Given the description of an element on the screen output the (x, y) to click on. 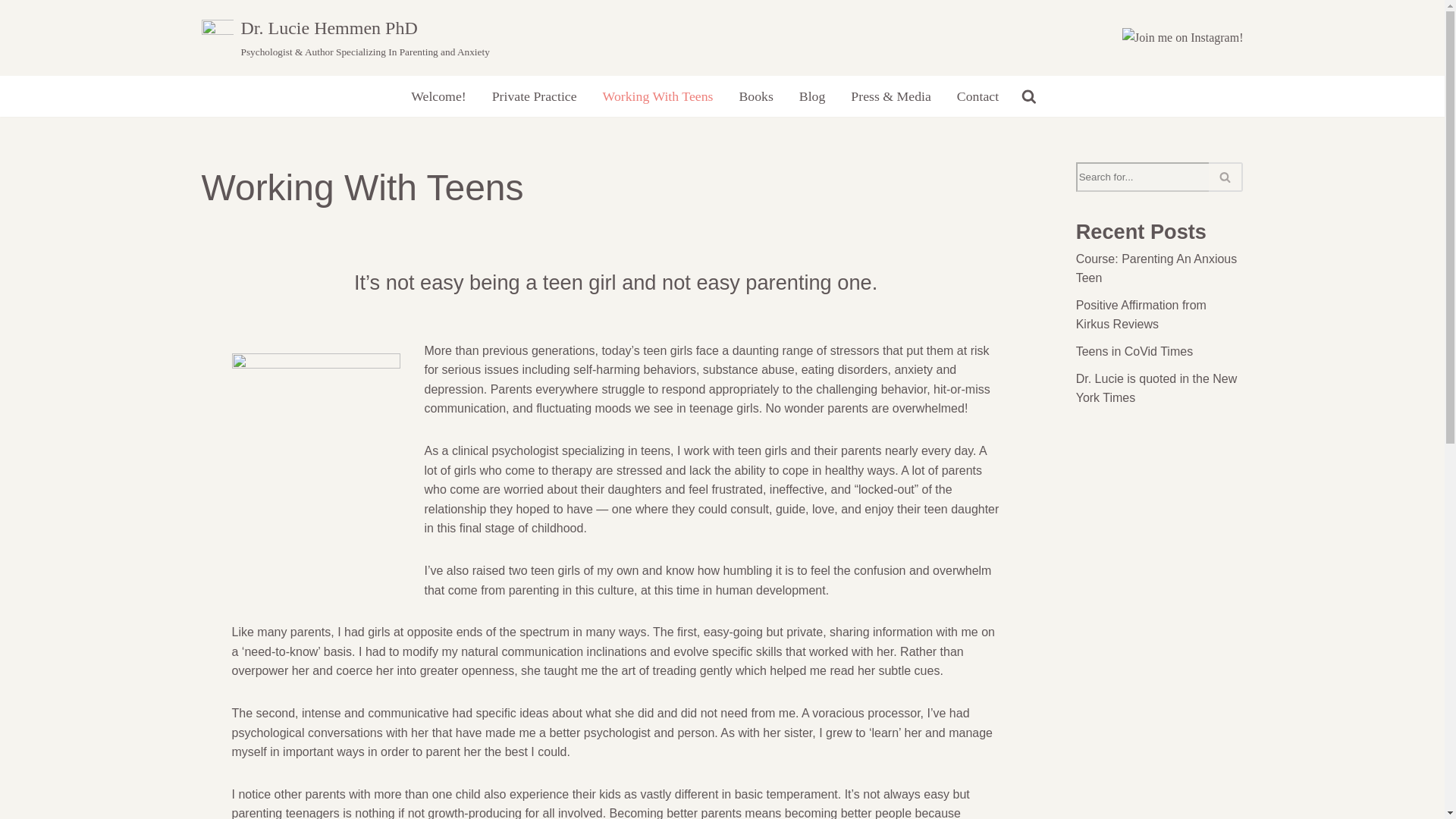
Skip to content (11, 31)
Positive Affirmation from Kirkus Reviews (1141, 314)
Dr. Lucie is quoted in the New York Times (1156, 388)
Join me on Instagram! (1182, 37)
Contact (977, 95)
Private Practice (534, 95)
Teens in CoVid Times (1133, 350)
Working With Teens (657, 95)
Welcome! (437, 95)
Blog (812, 95)
Books (755, 95)
Course: Parenting An Anxious Teen (1156, 268)
